Given the description of an element on the screen output the (x, y) to click on. 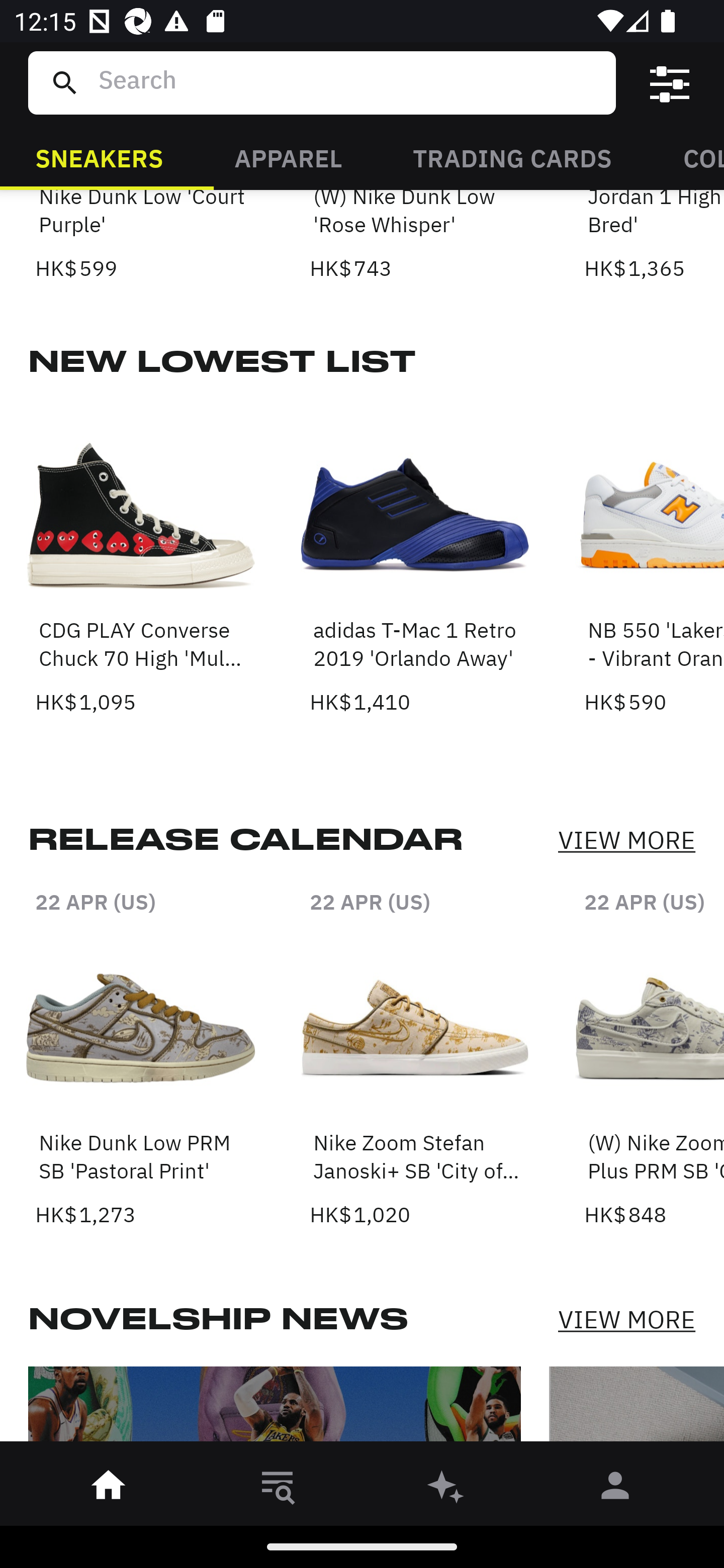
Search (349, 82)
 (669, 82)
SNEAKERS (99, 156)
APPAREL (287, 156)
TRADING CARDS (512, 156)
Nike Dunk Low 'Court Purple' HK$ 599 (140, 237)
(W) Nike Dunk Low 'Rose Whisper' HK$ 743 (414, 237)
adidas T-Mac 1 Retro 2019 'Orlando Away' HK$ 1,410 (414, 559)
NB 550 'Lakers Pack - Vibrant Orange' HK$ 590 (654, 559)
VIEW MORE (626, 840)
VIEW MORE (626, 1319)
󰋜 (108, 1488)
󱎸 (277, 1488)
󰫢 (446, 1488)
󰀄 (615, 1488)
